Given the description of an element on the screen output the (x, y) to click on. 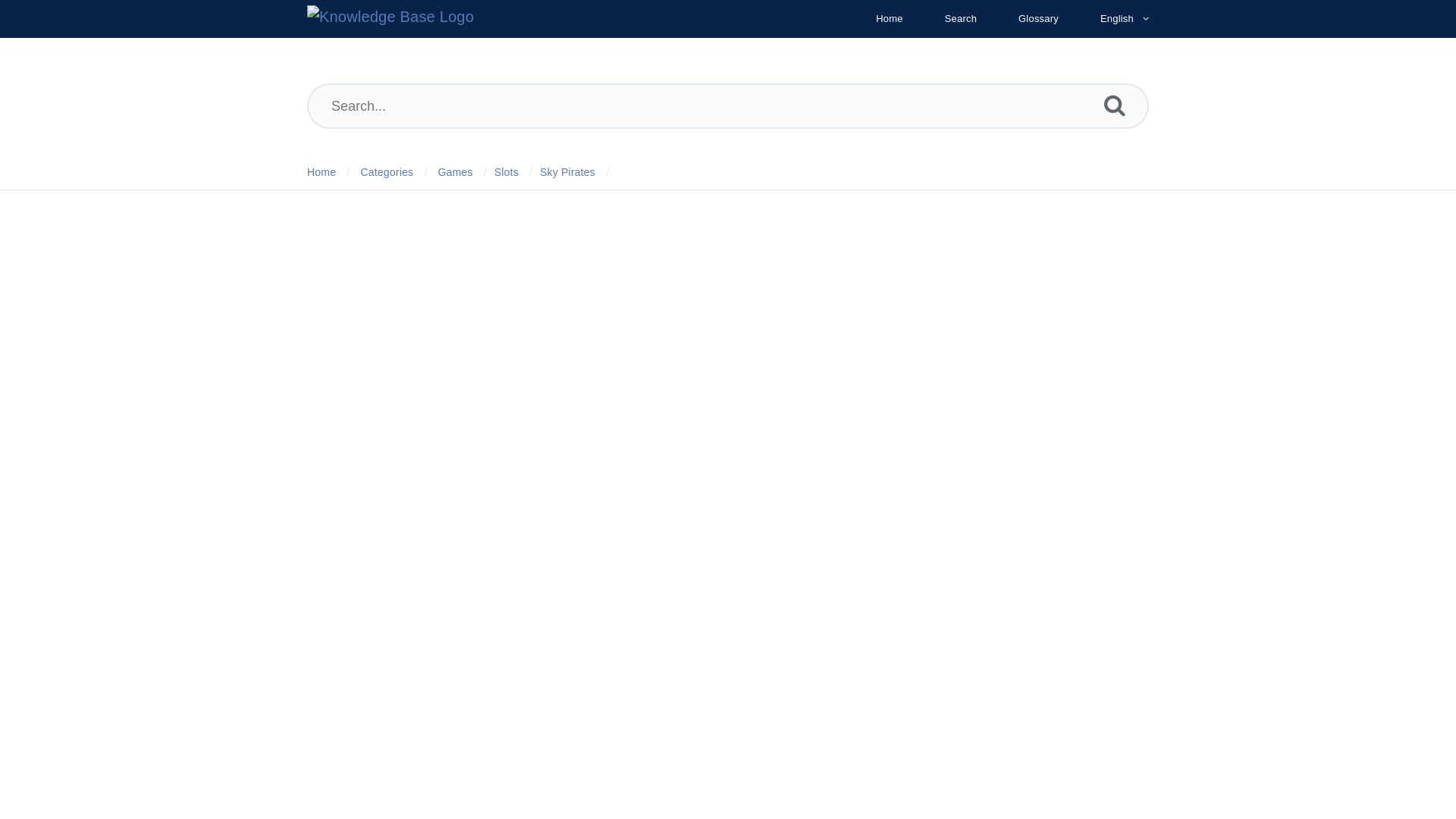
Slots (506, 172)
Search (960, 18)
Glossary (1038, 18)
Sky Pirates (567, 172)
Games (454, 172)
English (1116, 18)
Home (888, 18)
Home (321, 172)
Categories (386, 172)
